Given the description of an element on the screen output the (x, y) to click on. 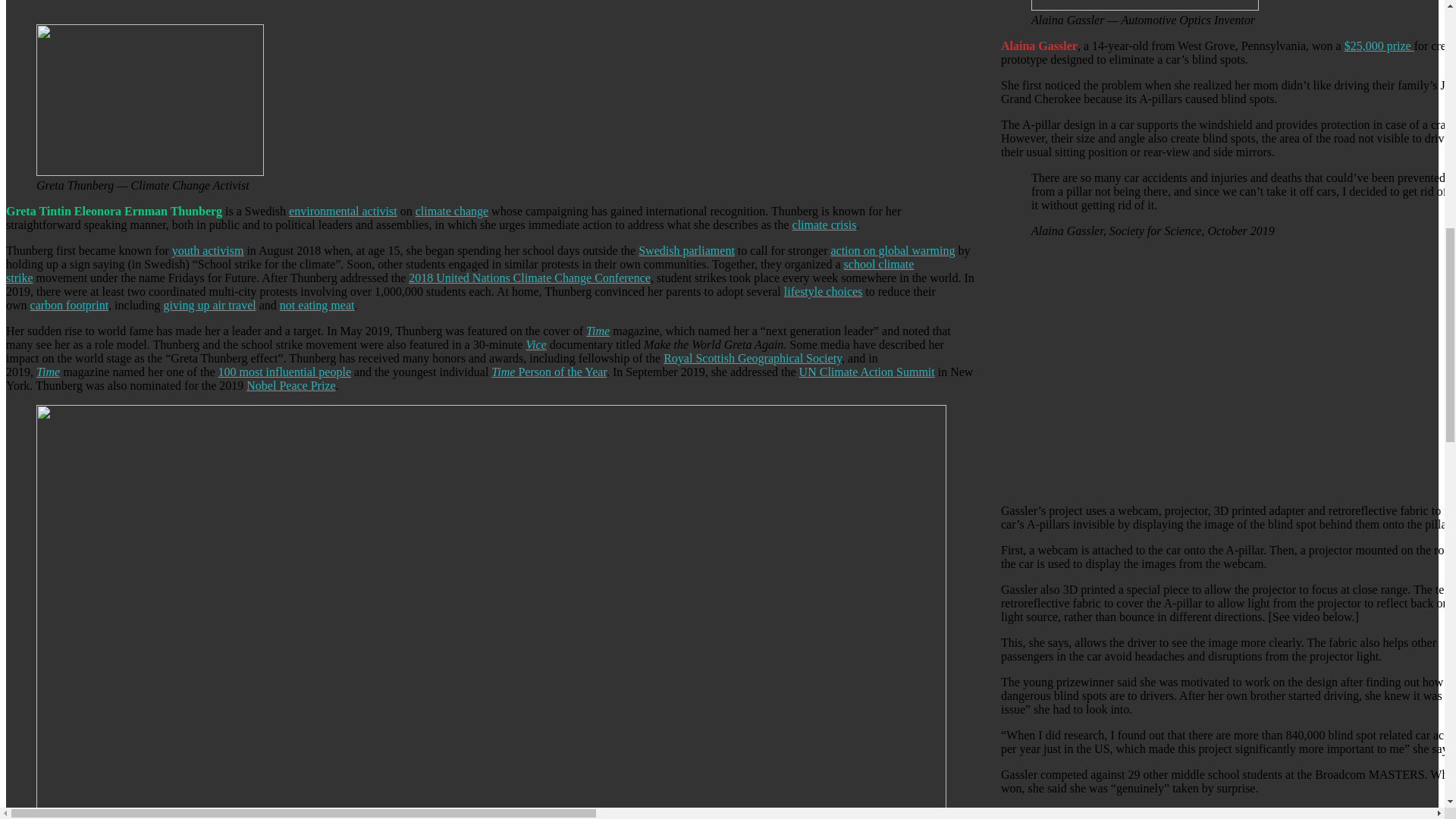
youth activism (207, 250)
carbon footprint (69, 305)
school climate strike (459, 270)
Vice (535, 344)
Swedish parliament (687, 250)
not eating meat (317, 305)
Royal Scottish Geographical Society (752, 358)
lifestyle choices (823, 291)
environmental activist (342, 210)
2018 United Nations Climate Change Conference (529, 277)
Time (598, 330)
giving up air travel (209, 305)
action on global warming (892, 250)
climate change (450, 210)
climate crisis (824, 224)
